Given the description of an element on the screen output the (x, y) to click on. 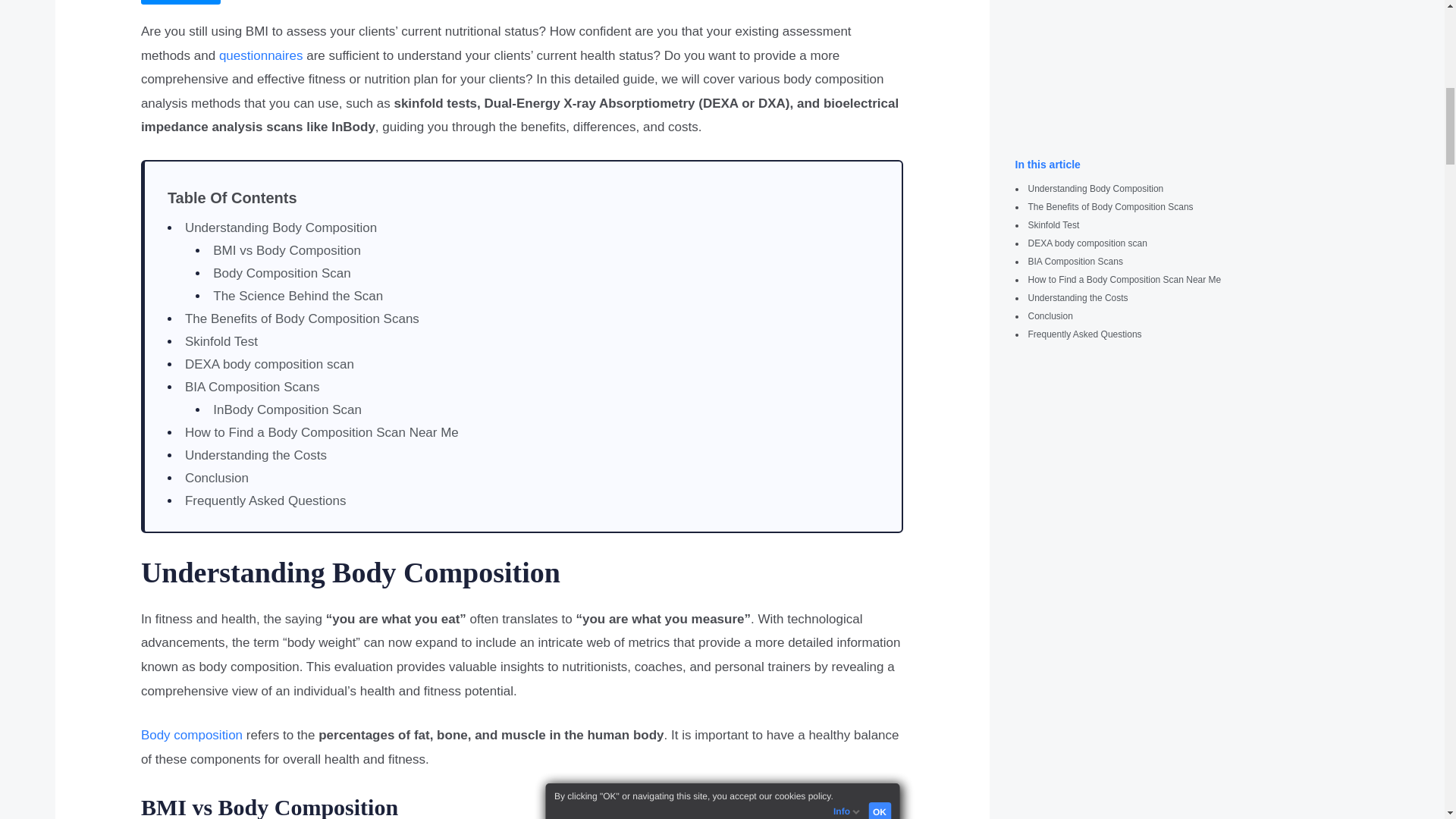
Info (849, 2)
OK (879, 2)
